Given the description of an element on the screen output the (x, y) to click on. 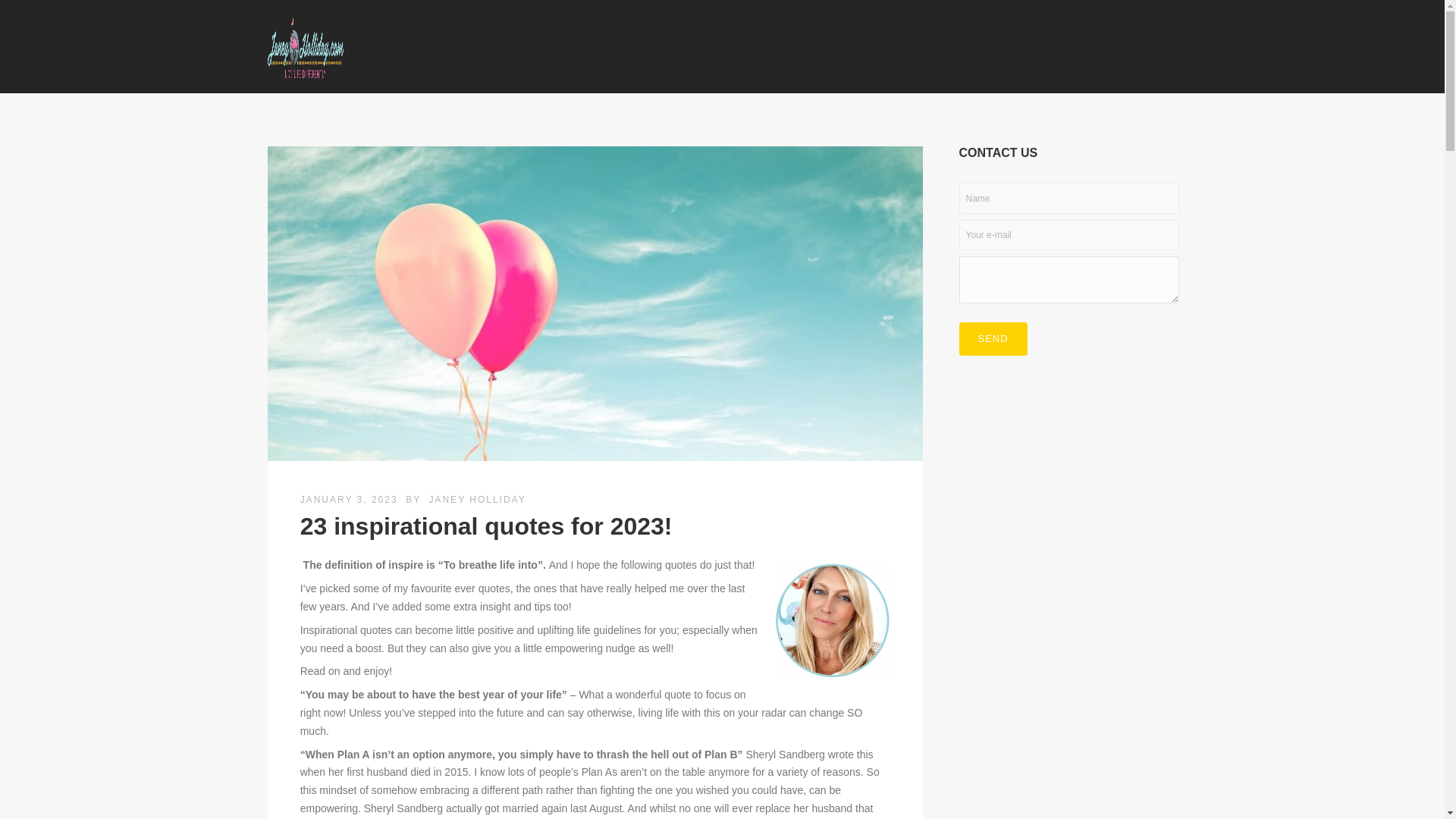
CONTACT (1080, 31)
BLOG (867, 31)
ABOUT JANEY (797, 31)
PRESS (920, 31)
PROGRAMS (634, 31)
TESTIMONIALS (997, 31)
FREEBIES! (713, 31)
LOGIN (1142, 31)
JANEY HOLLIDAY (476, 499)
HOME (568, 31)
